Given the description of an element on the screen output the (x, y) to click on. 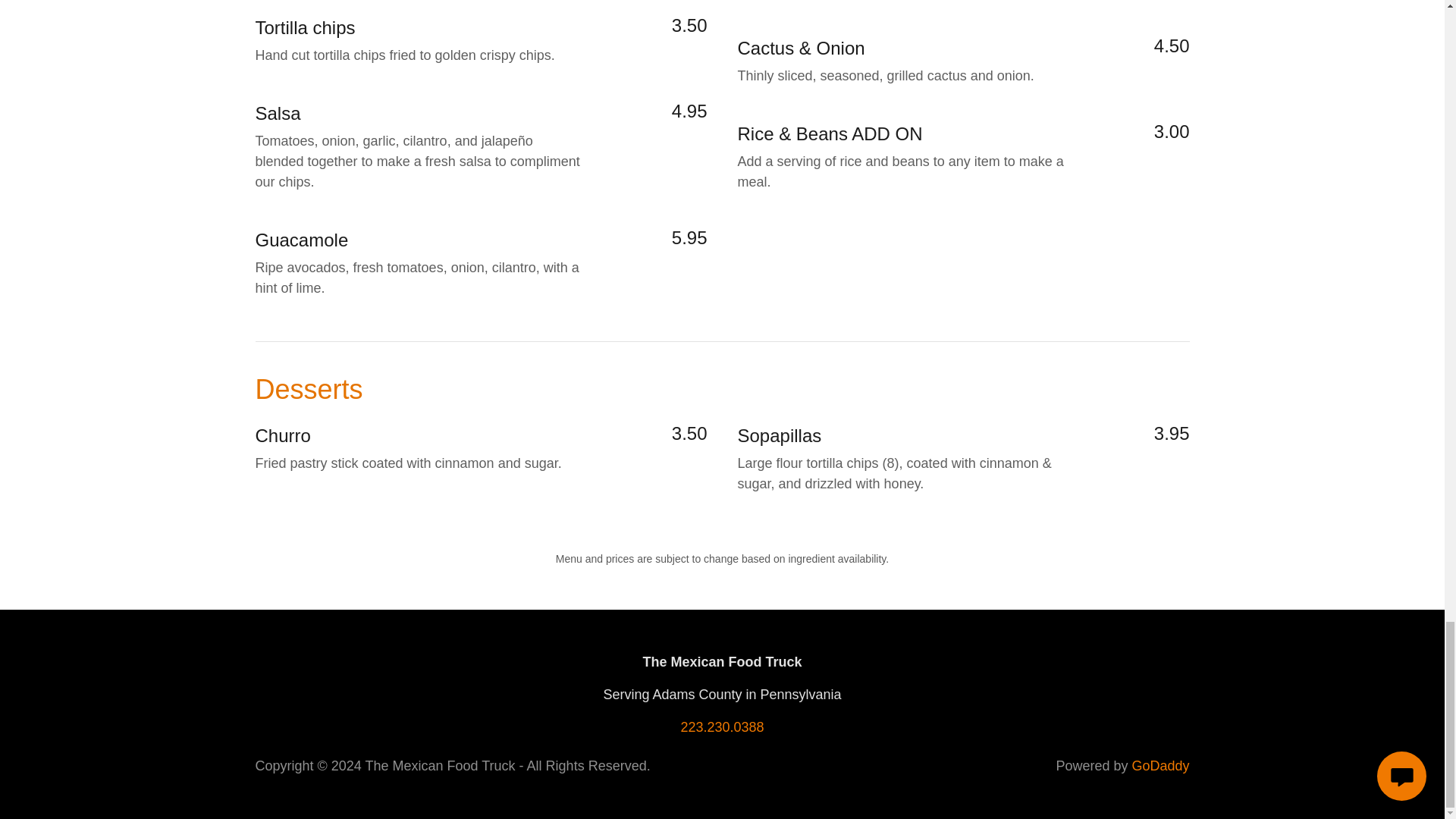
GoDaddy (1160, 765)
223.230.0388 (720, 726)
